Given the description of an element on the screen output the (x, y) to click on. 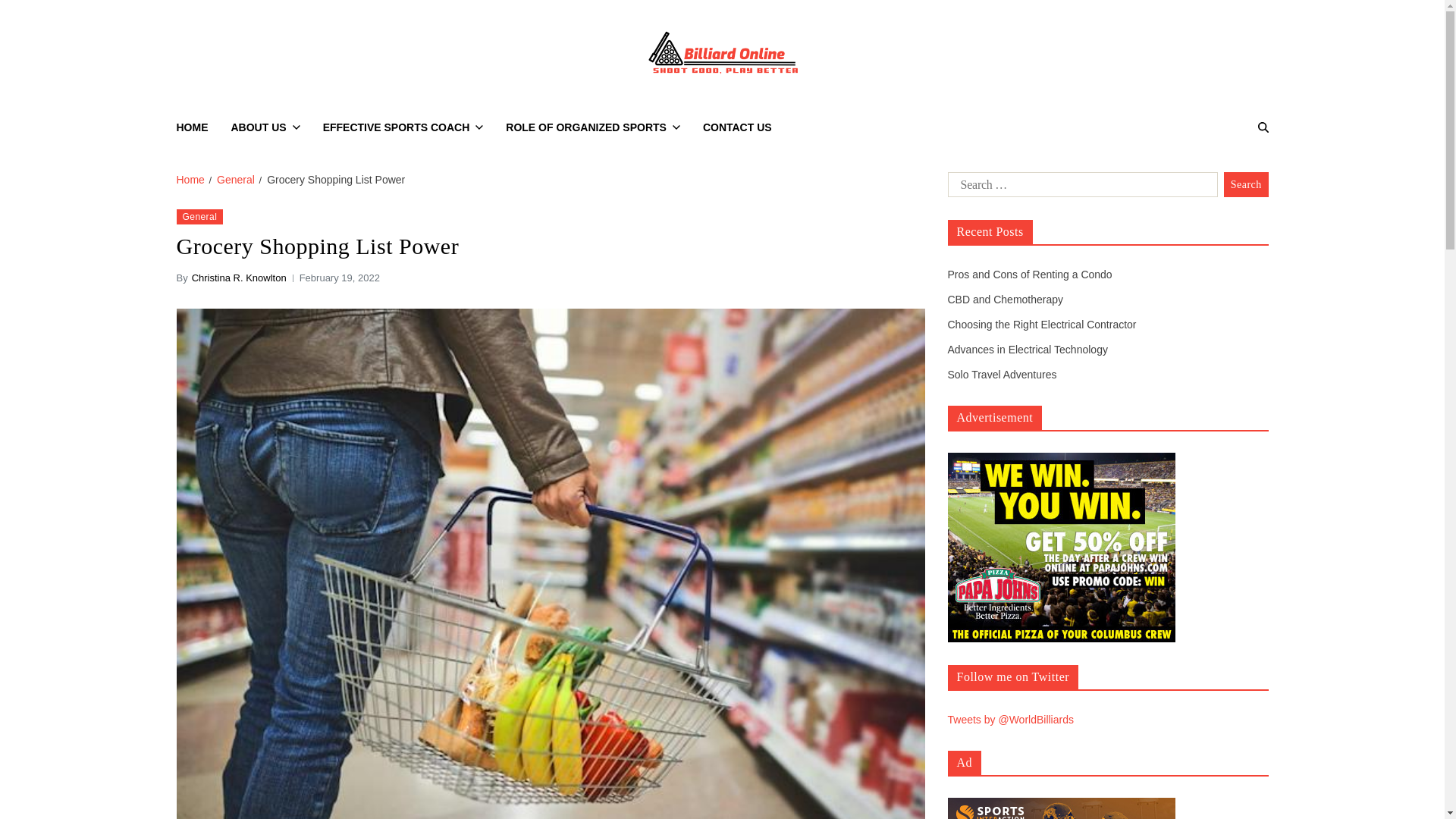
Pros and Cons of Renting a Condo (1029, 274)
EFFECTIVE SPORTS COACH (403, 127)
Solo Travel Adventures (1002, 374)
Search (1224, 180)
Choosing the Right Electrical Contractor (1042, 324)
Billiard-Online - Shoot Good, Play Better (931, 99)
CONTACT US (737, 127)
Home (189, 179)
Advances in Electrical Technology (1027, 349)
Search (1246, 184)
Christina R. Knowlton (239, 278)
General (199, 216)
General (235, 179)
ABOUT US (264, 127)
CBD and Chemotherapy (1005, 299)
